Given the description of an element on the screen output the (x, y) to click on. 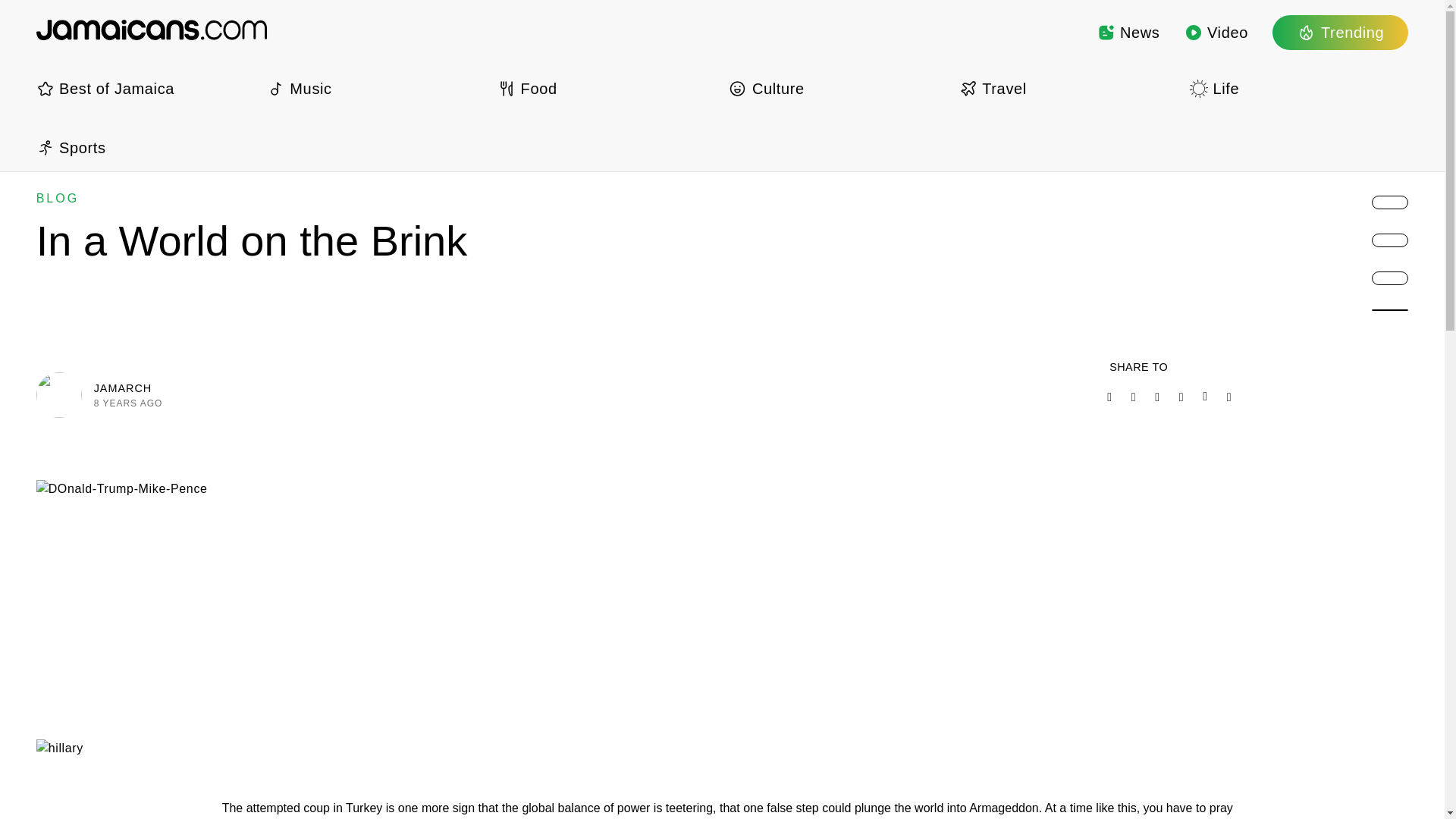
Food (606, 88)
Life (1298, 88)
Sports (145, 147)
News (1128, 32)
Music (375, 88)
BLOG (57, 197)
Trending (1339, 32)
Culture (837, 88)
Best of Jamaica (145, 88)
Video (1216, 32)
Travel (1068, 88)
